Given the description of an element on the screen output the (x, y) to click on. 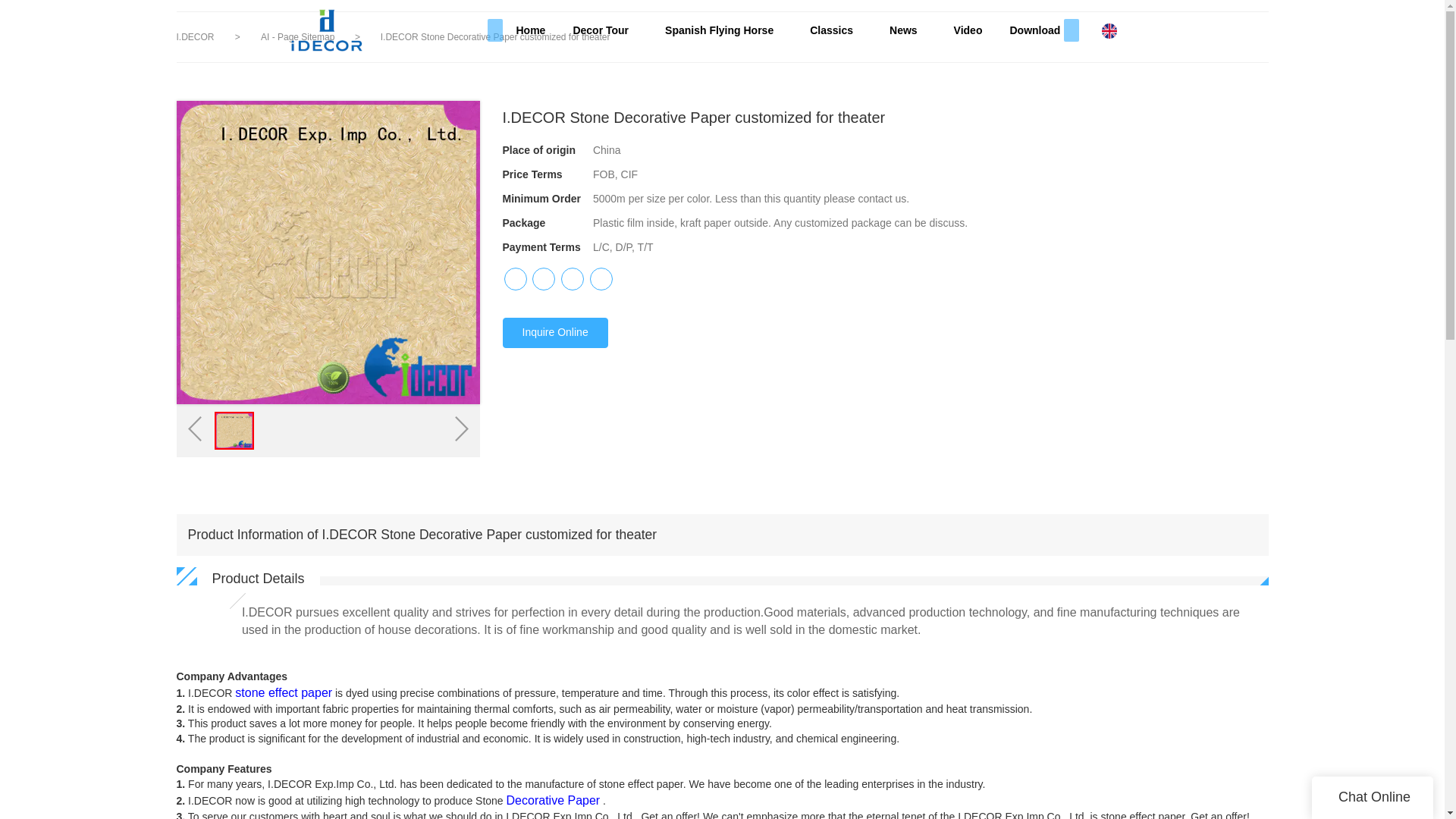
Inquire Online (554, 332)
Download (1034, 30)
AI - Page Sitemap (298, 36)
Spanish Flying Horse (723, 30)
Classics (836, 30)
I.DECOR (195, 36)
News (908, 30)
Video (967, 30)
Home (530, 30)
Decor Tour (604, 30)
